Given the description of an element on the screen output the (x, y) to click on. 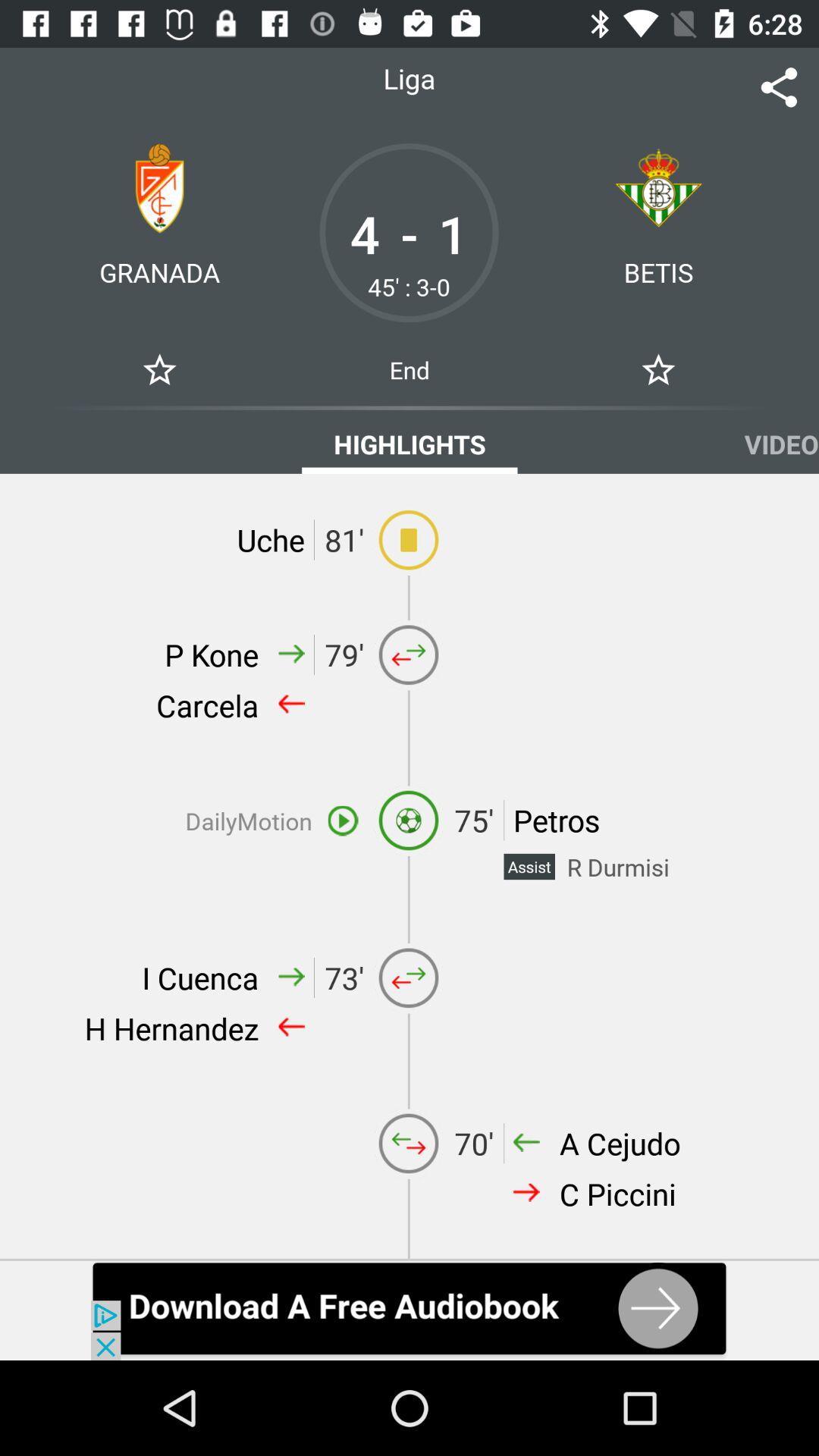
this download app (409, 1310)
